Given the description of an element on the screen output the (x, y) to click on. 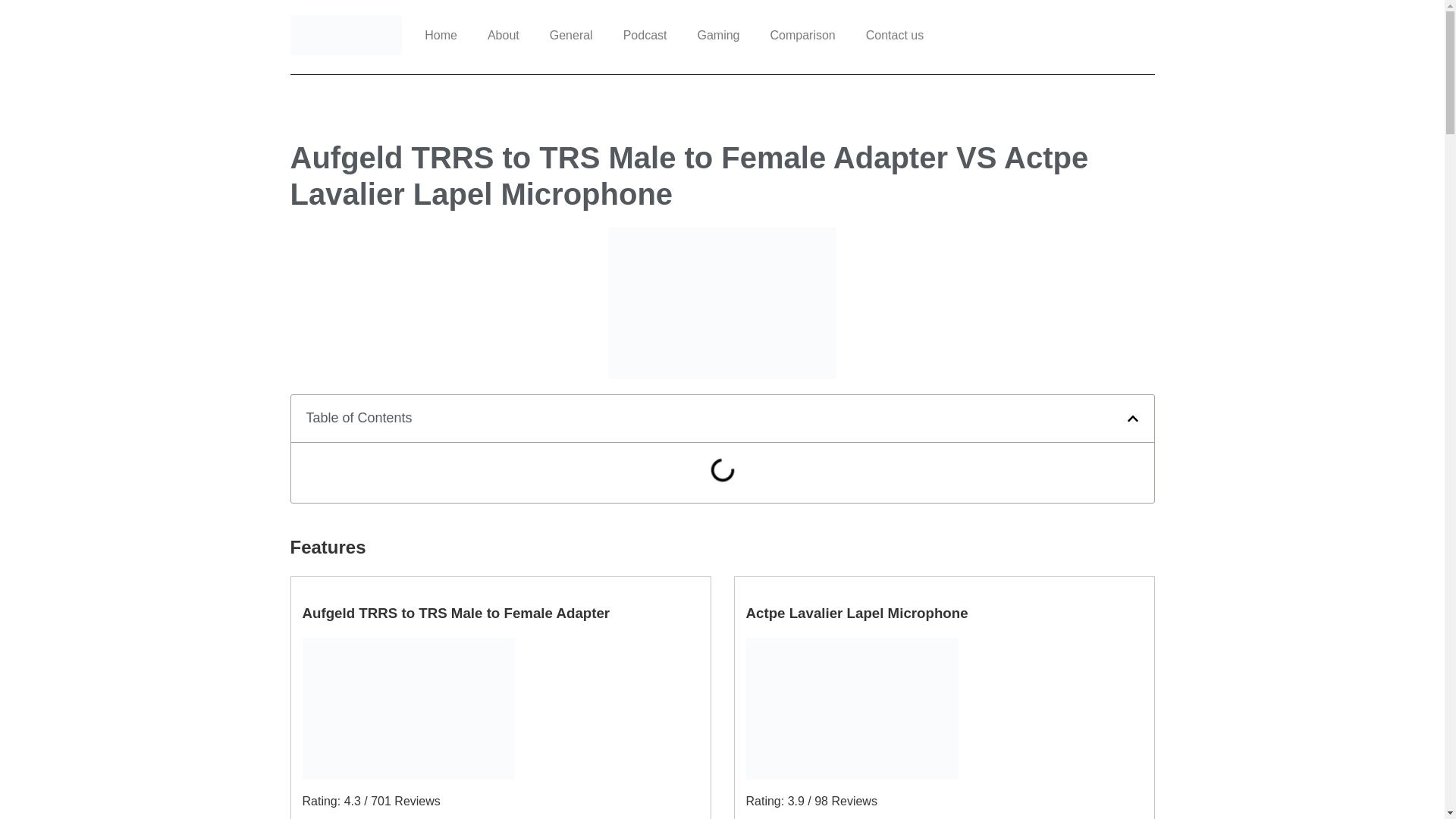
Gaming (717, 35)
Comparison (802, 35)
General (571, 35)
Contact us (894, 35)
Home (440, 35)
Podcast (645, 35)
About (502, 35)
